Given the description of an element on the screen output the (x, y) to click on. 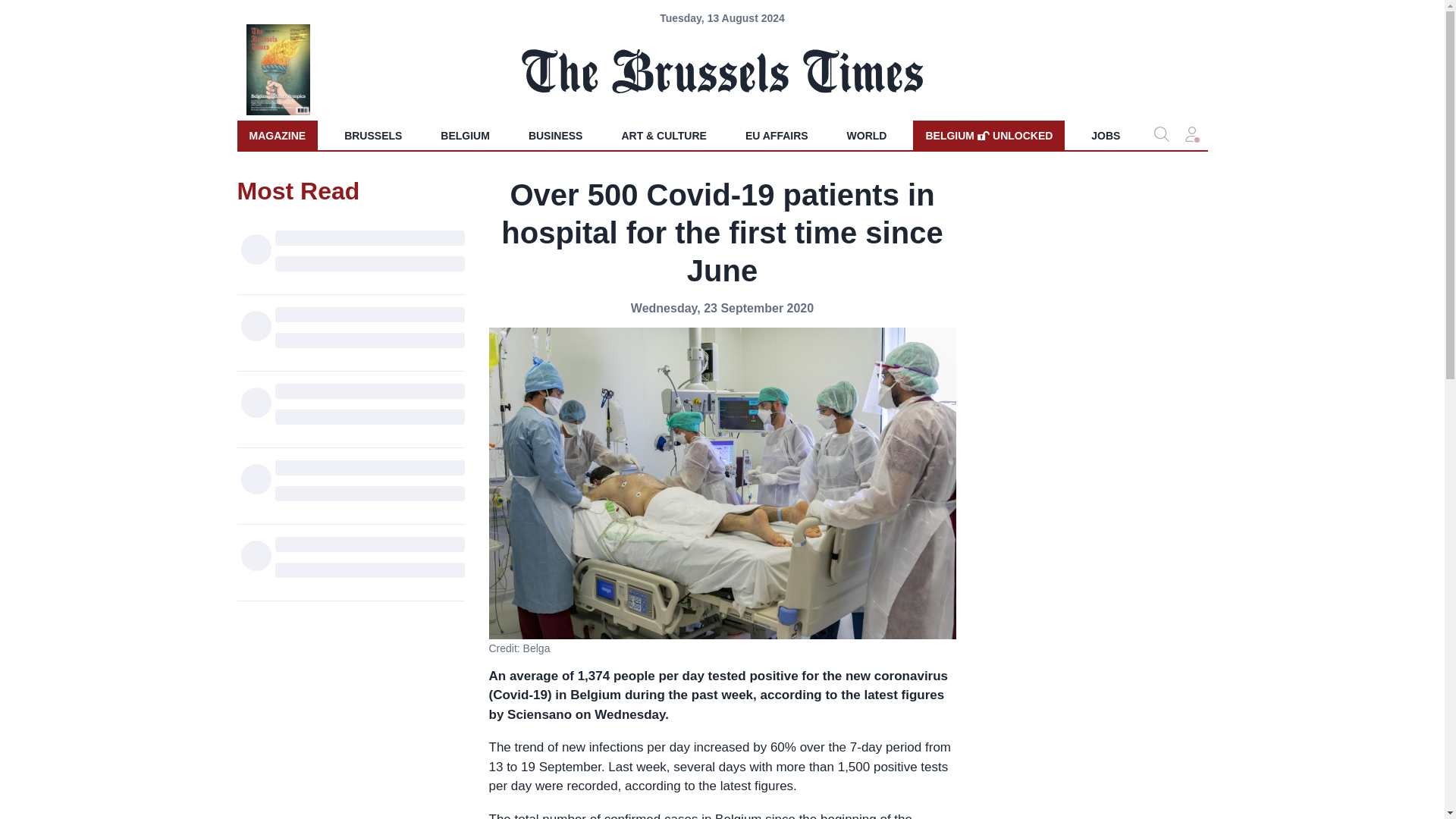
WORLD (866, 135)
EU AFFAIRS (777, 135)
JOBS (1105, 135)
MAGAZINE (276, 135)
BRUSSELS (372, 135)
BUSINESS (555, 135)
BELGIUM (465, 135)
